Given the description of an element on the screen output the (x, y) to click on. 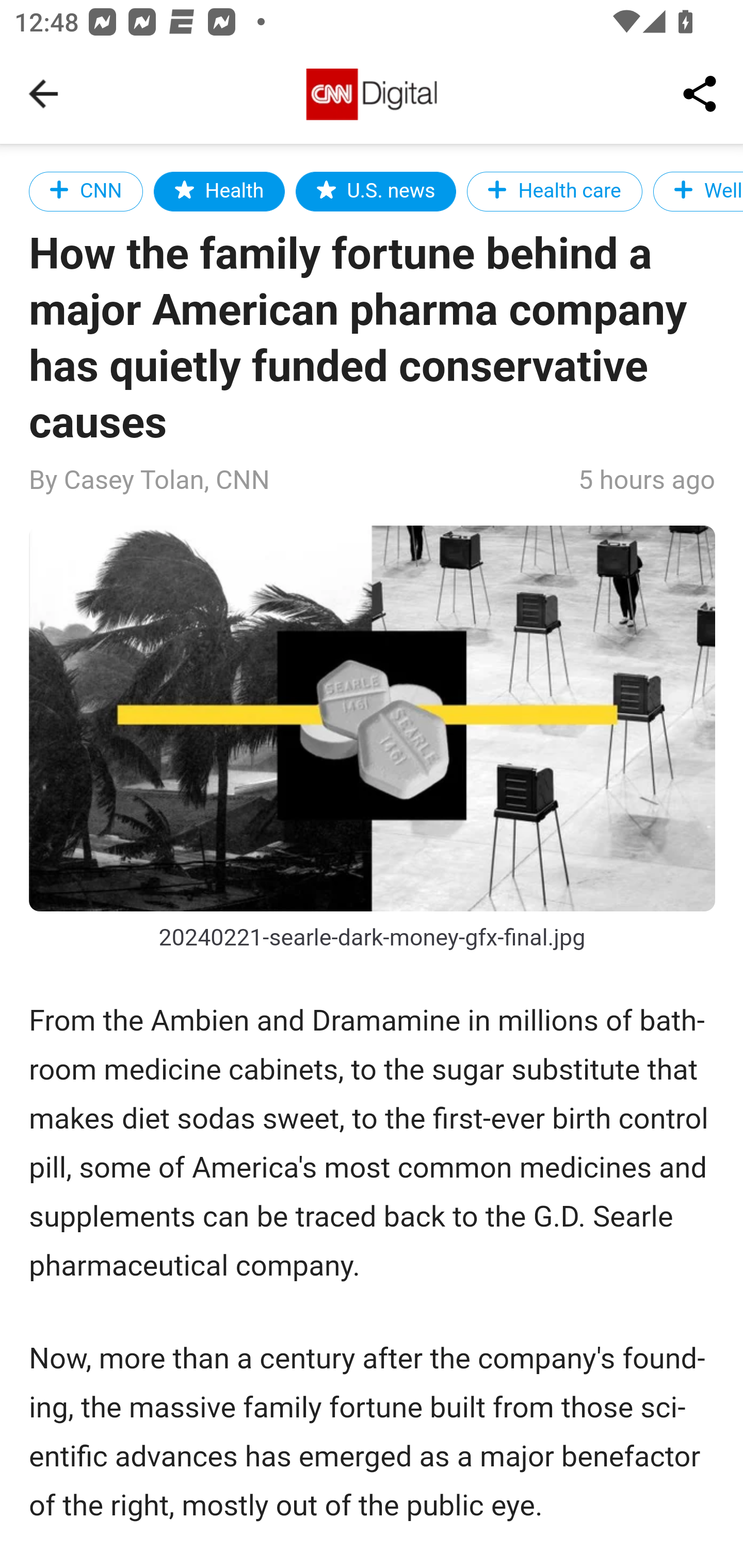
CNN (86, 191)
Health (219, 191)
U.S. news (375, 191)
Health care (553, 191)
